Given the description of an element on the screen output the (x, y) to click on. 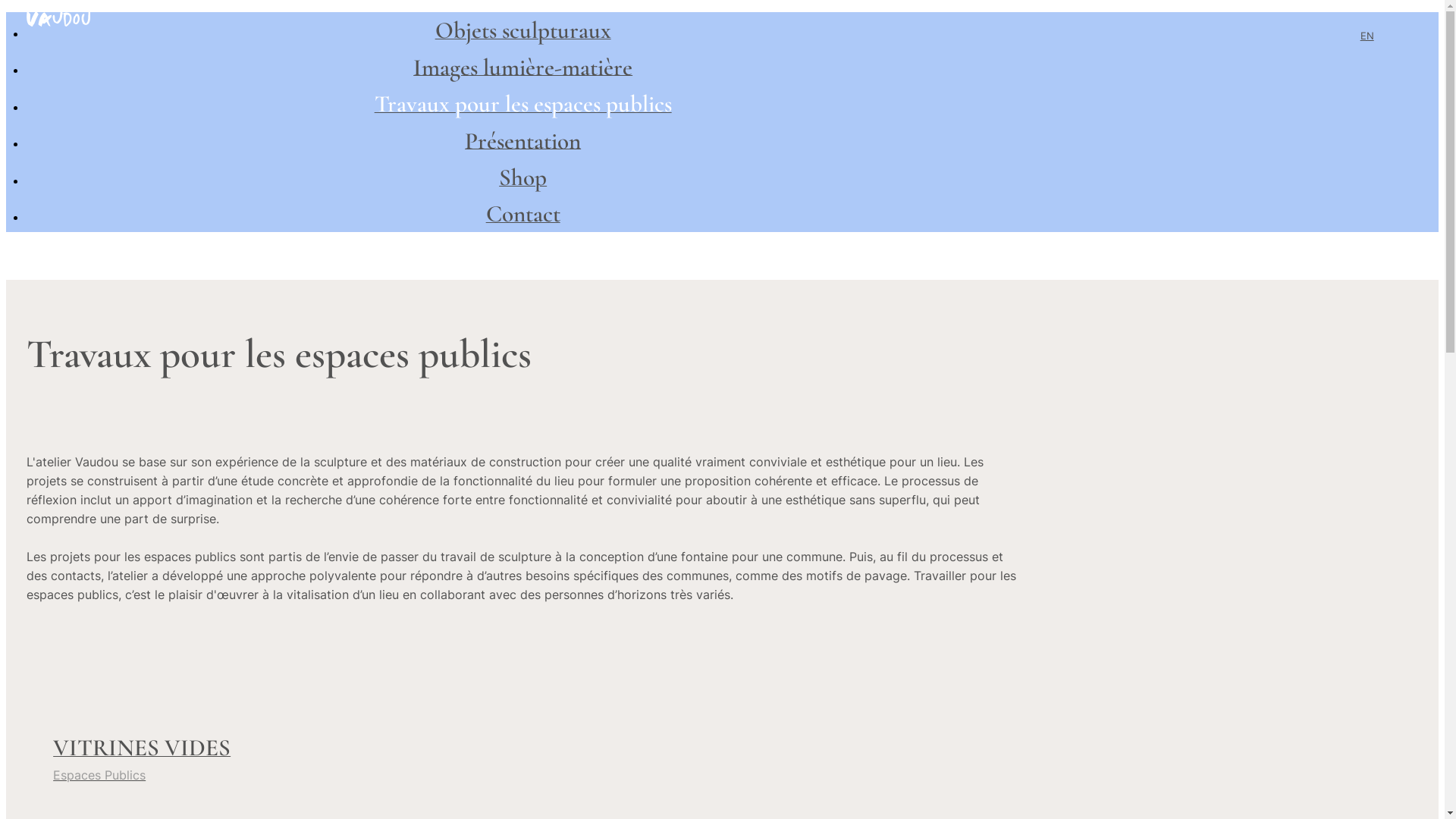
EN Element type: text (1367, 35)
Travaux pour les espaces publics Element type: text (522, 106)
Contact Element type: text (523, 216)
Shop Element type: text (522, 180)
Objets sculpturaux Element type: text (523, 33)
